Given the description of an element on the screen output the (x, y) to click on. 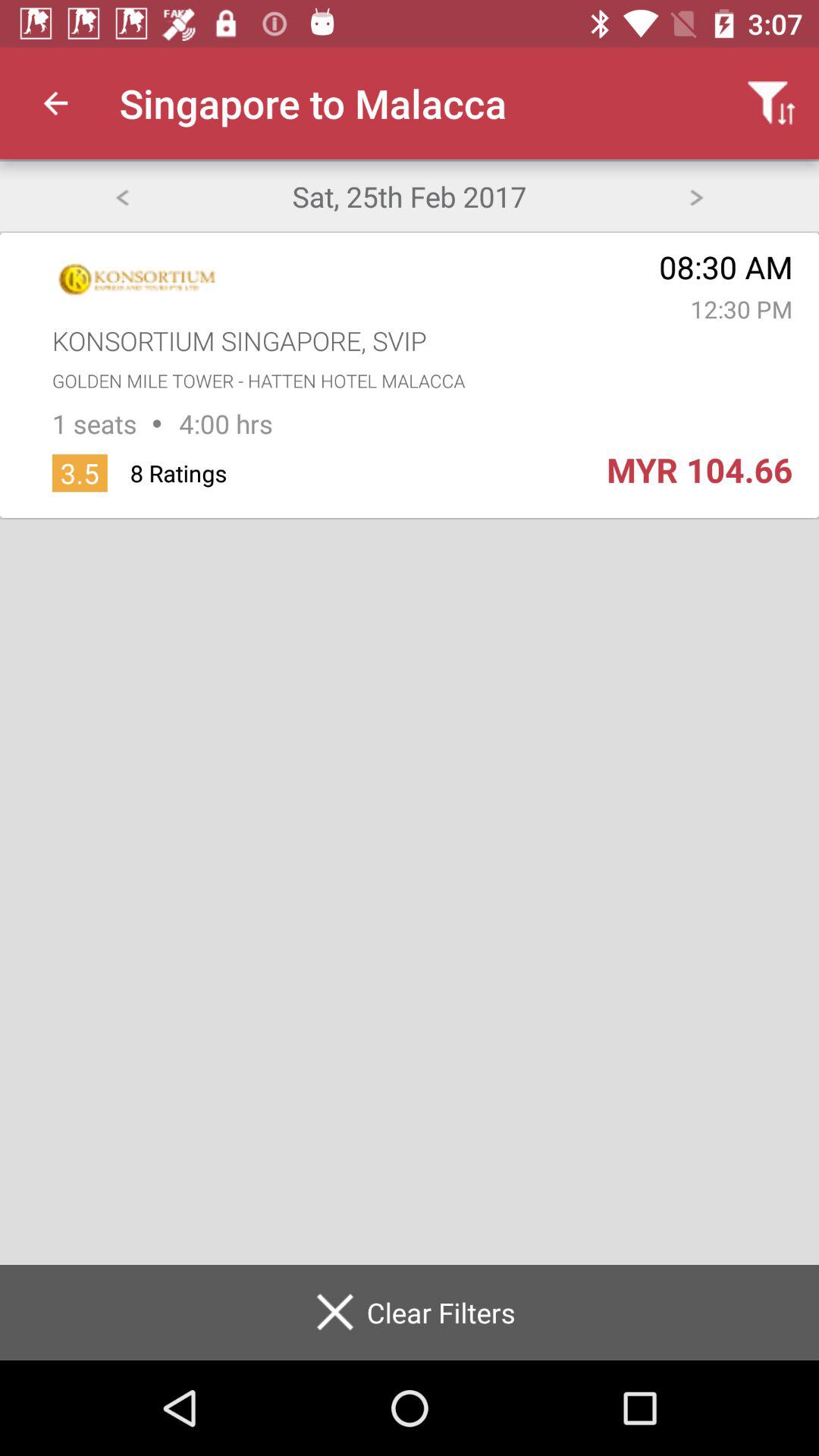
select item to the right of sat 25th feb icon (696, 196)
